Given the description of an element on the screen output the (x, y) to click on. 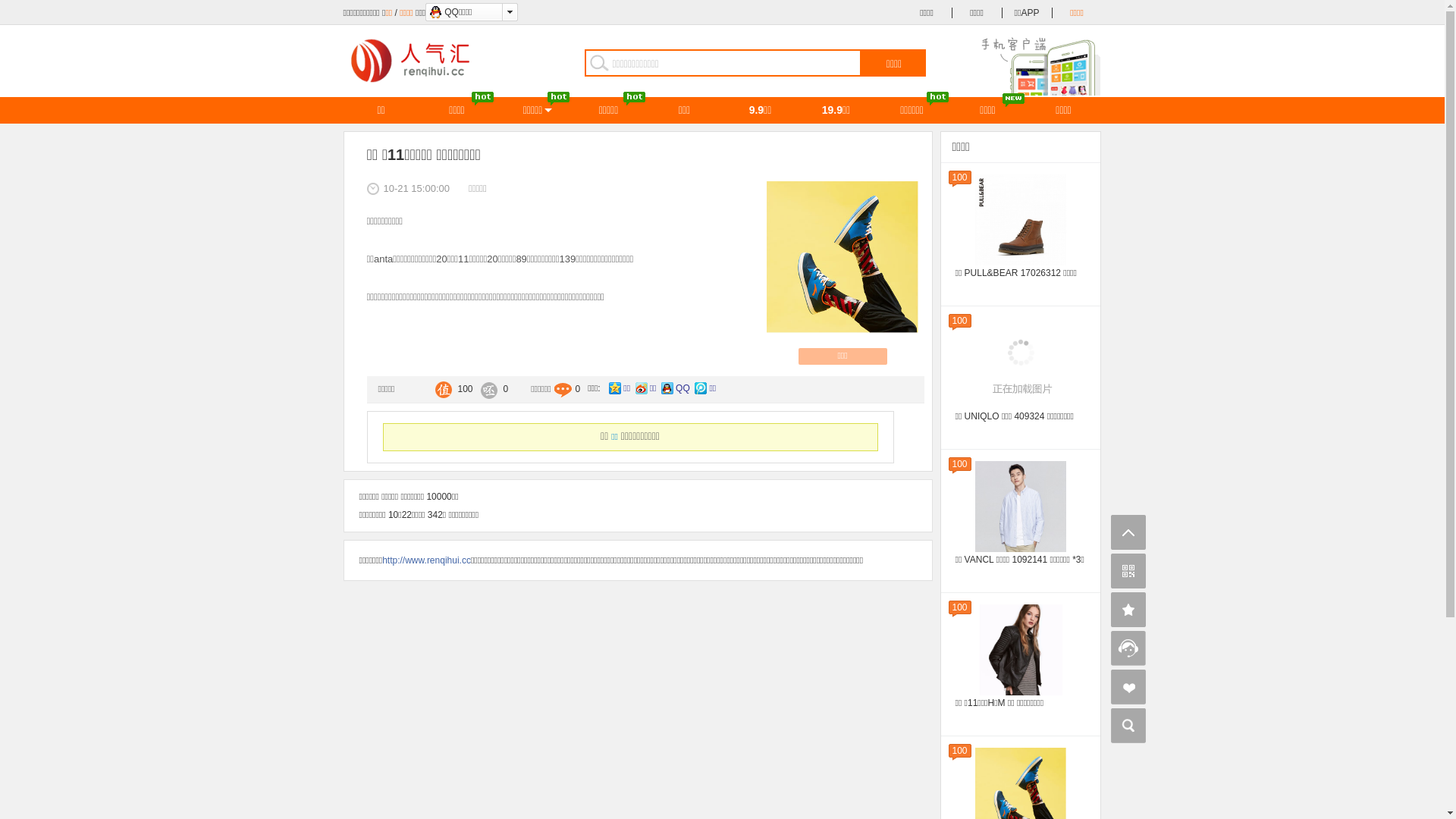
0 Element type: text (565, 389)
QQ Element type: text (675, 388)
0 Element type: text (490, 389)
100 Element type: text (450, 389)
